Given the description of an element on the screen output the (x, y) to click on. 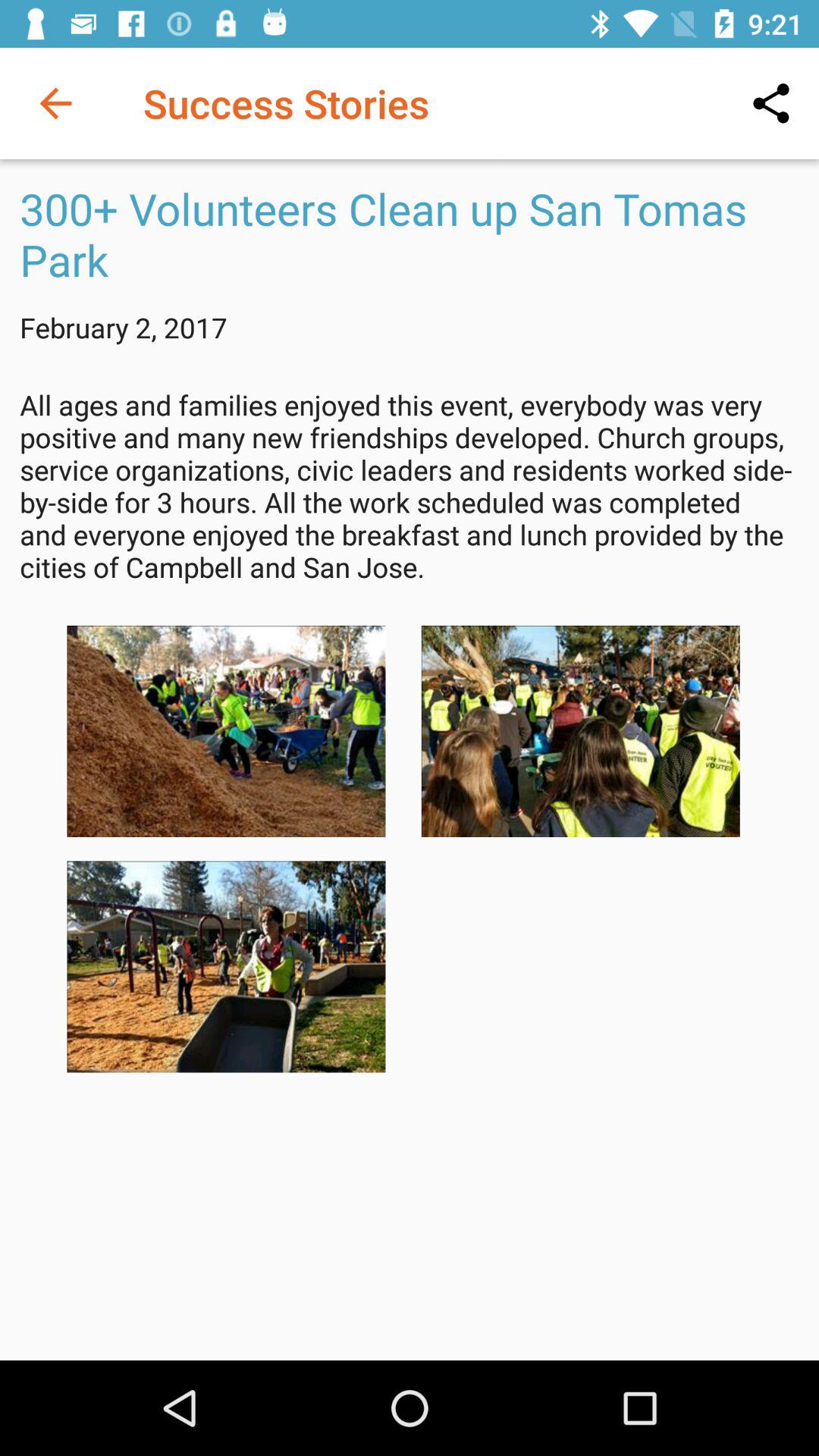
choose photo (226, 966)
